Given the description of an element on the screen output the (x, y) to click on. 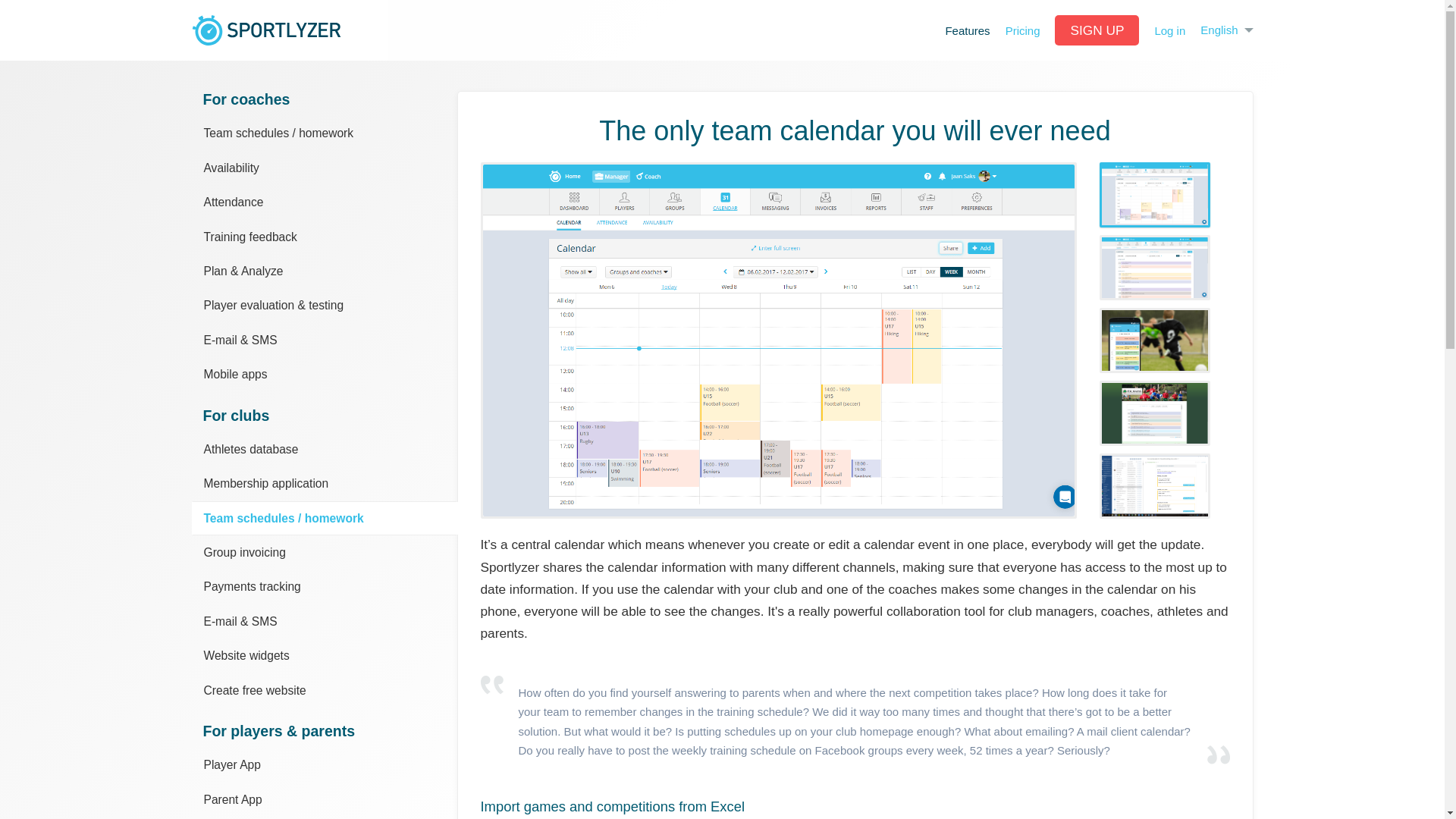
Mobile apps (323, 374)
Parent App (323, 799)
Website widgets (323, 655)
Payments tracking (323, 586)
Training feedback (323, 236)
Create free website (323, 690)
Membership application (323, 483)
Player App (323, 764)
Athletes database (323, 449)
SIGN UP (1096, 30)
Attendance (323, 202)
Pricing (1022, 30)
Features (967, 30)
Log in (1169, 30)
Availability (323, 167)
